Given the description of an element on the screen output the (x, y) to click on. 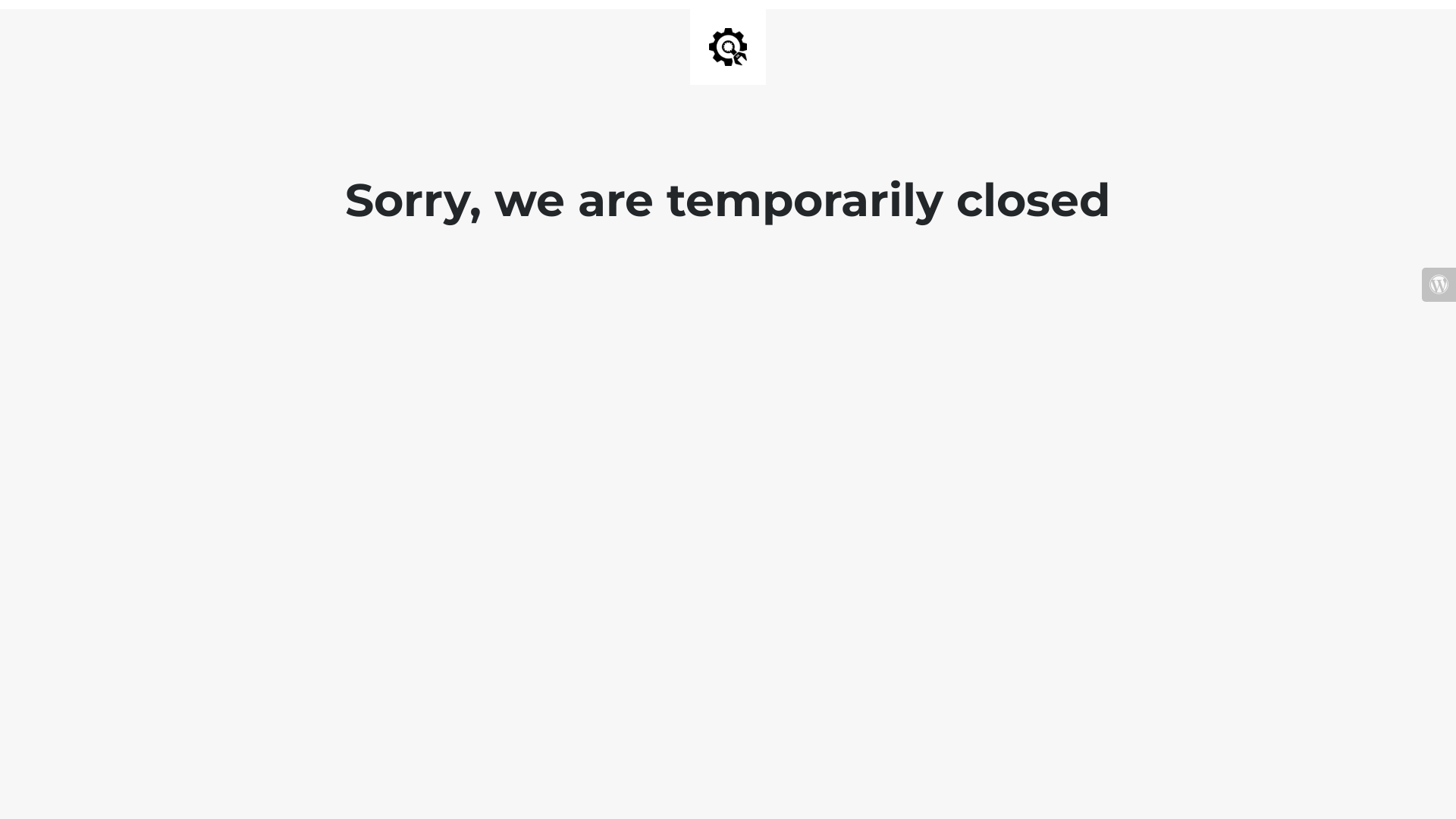
Site is Under Construction Element type: hover (727, 46)
